Given the description of an element on the screen output the (x, y) to click on. 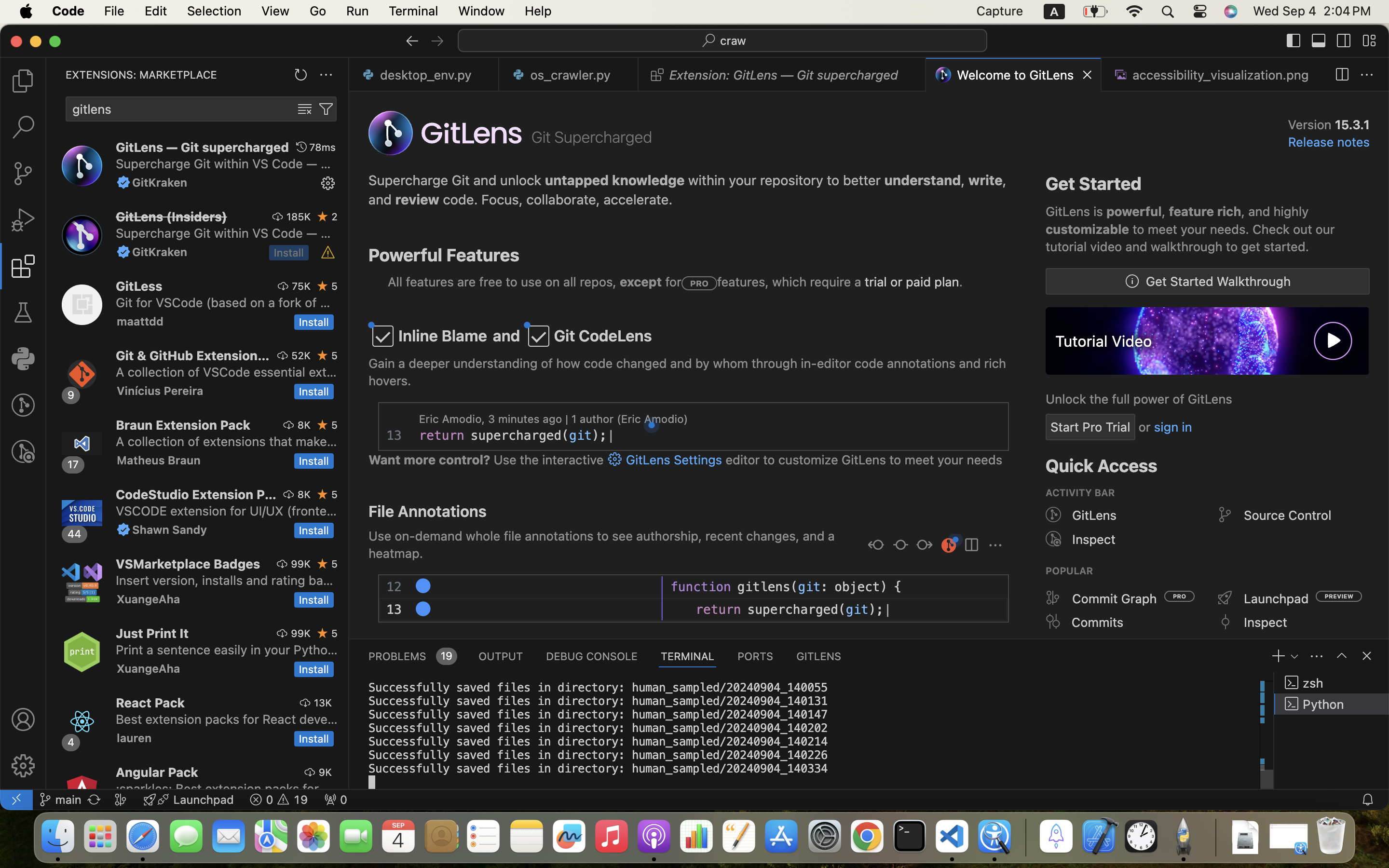
Tutorial Video Element type: AXStaticText (1103, 340)
for Element type: AXStaticText (671, 281)
0  Element type: AXRadioButton (23, 451)
A collection of extensions that makes vscode more productive (and cool). Element type: AXStaticText (226, 441)
EXTENSIONS: MARKETPLACE Element type: AXStaticText (141, 74)
